Given the description of an element on the screen output the (x, y) to click on. 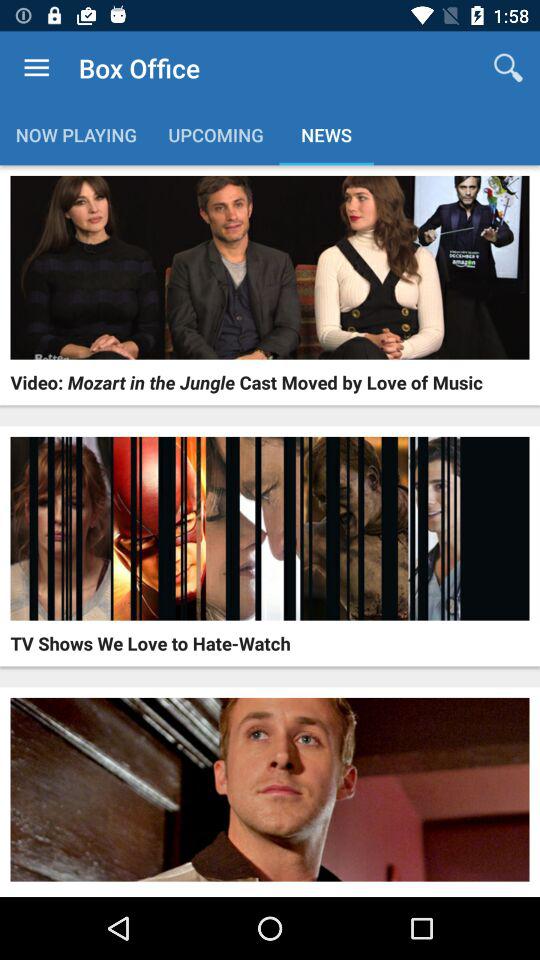
turn on video mozart in item (246, 382)
